Given the description of an element on the screen output the (x, y) to click on. 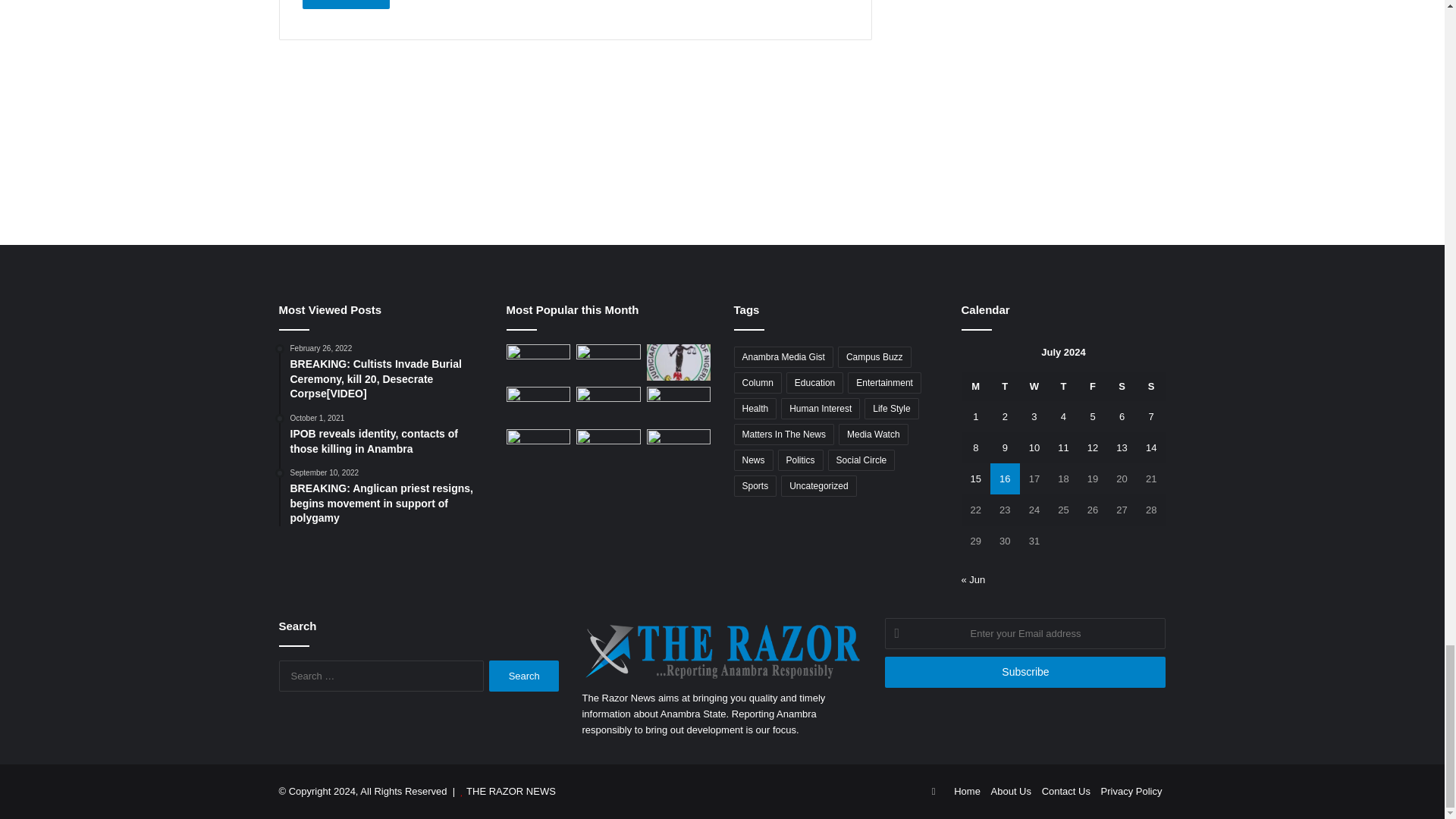
Search (524, 675)
Search (524, 675)
Subscribe (1025, 671)
Post Comment (345, 4)
